Given the description of an element on the screen output the (x, y) to click on. 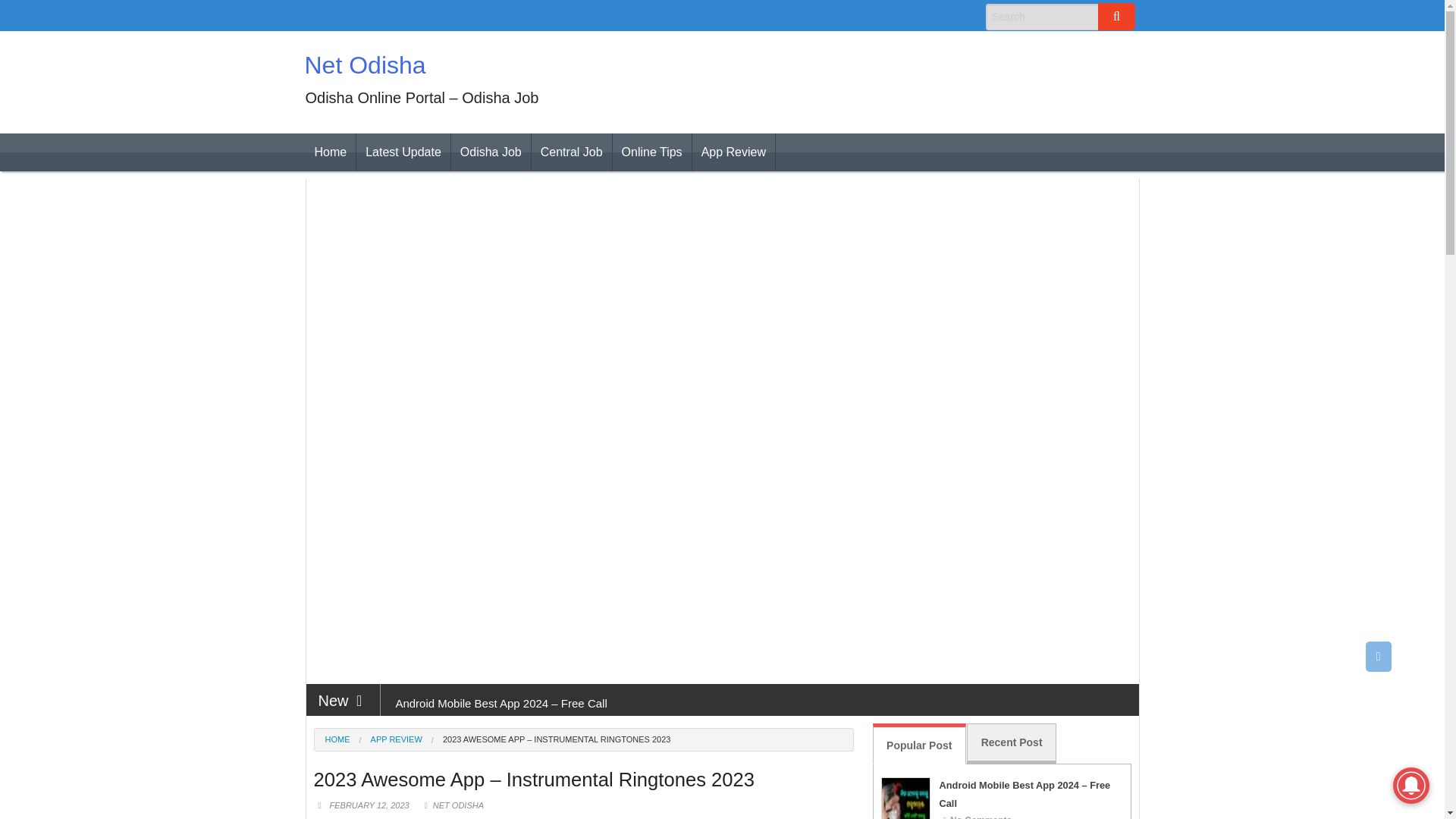
Go (1116, 16)
NET ODISHA (459, 805)
Net Odisha (365, 64)
Online Tips (651, 152)
Central Job (571, 152)
Go (1116, 16)
App Review (733, 152)
Odisha Job (491, 152)
Home (329, 152)
